Given the description of an element on the screen output the (x, y) to click on. 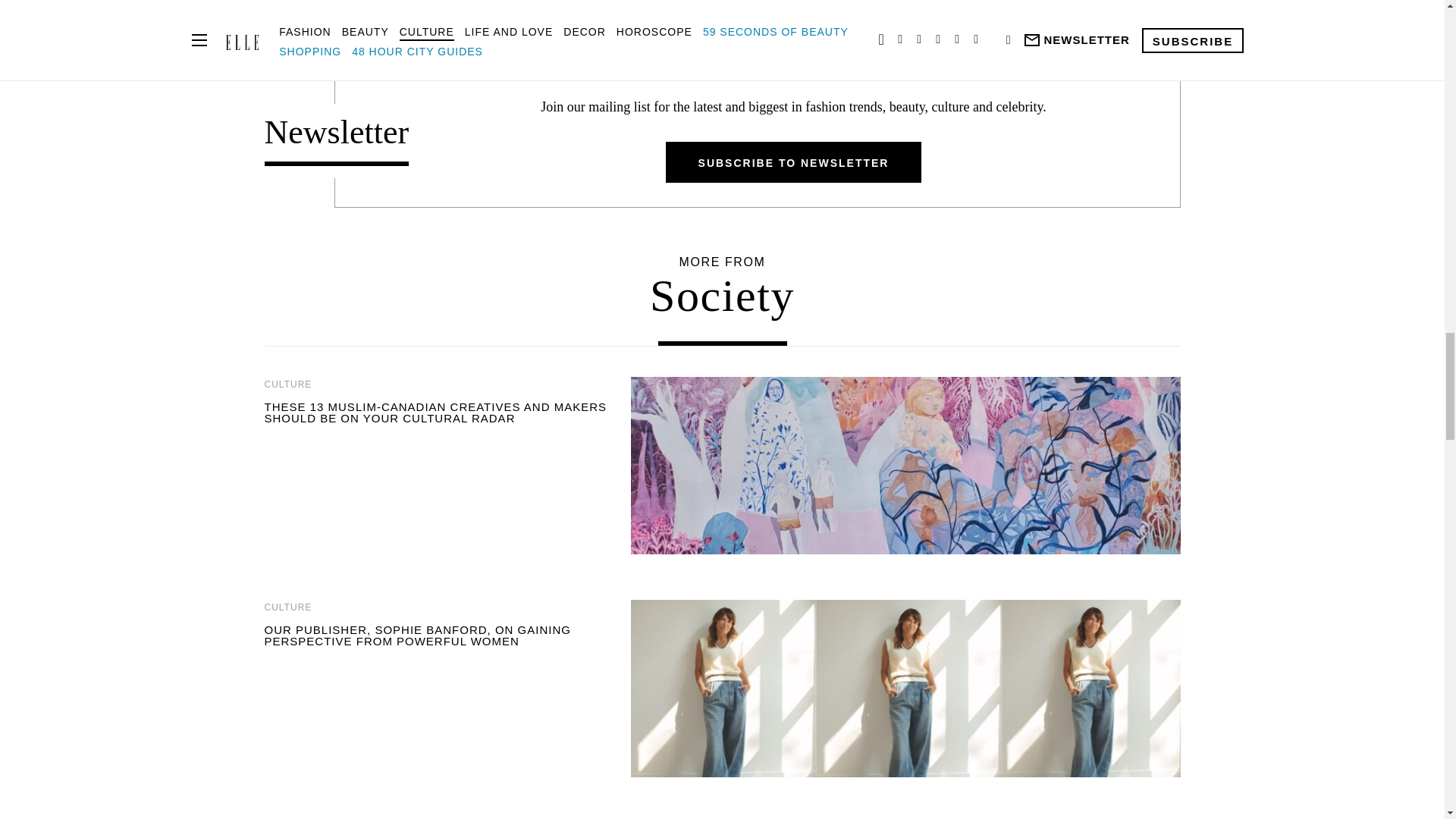
SUBSCRIBE TO NEWSLETTER (793, 161)
